Given the description of an element on the screen output the (x, y) to click on. 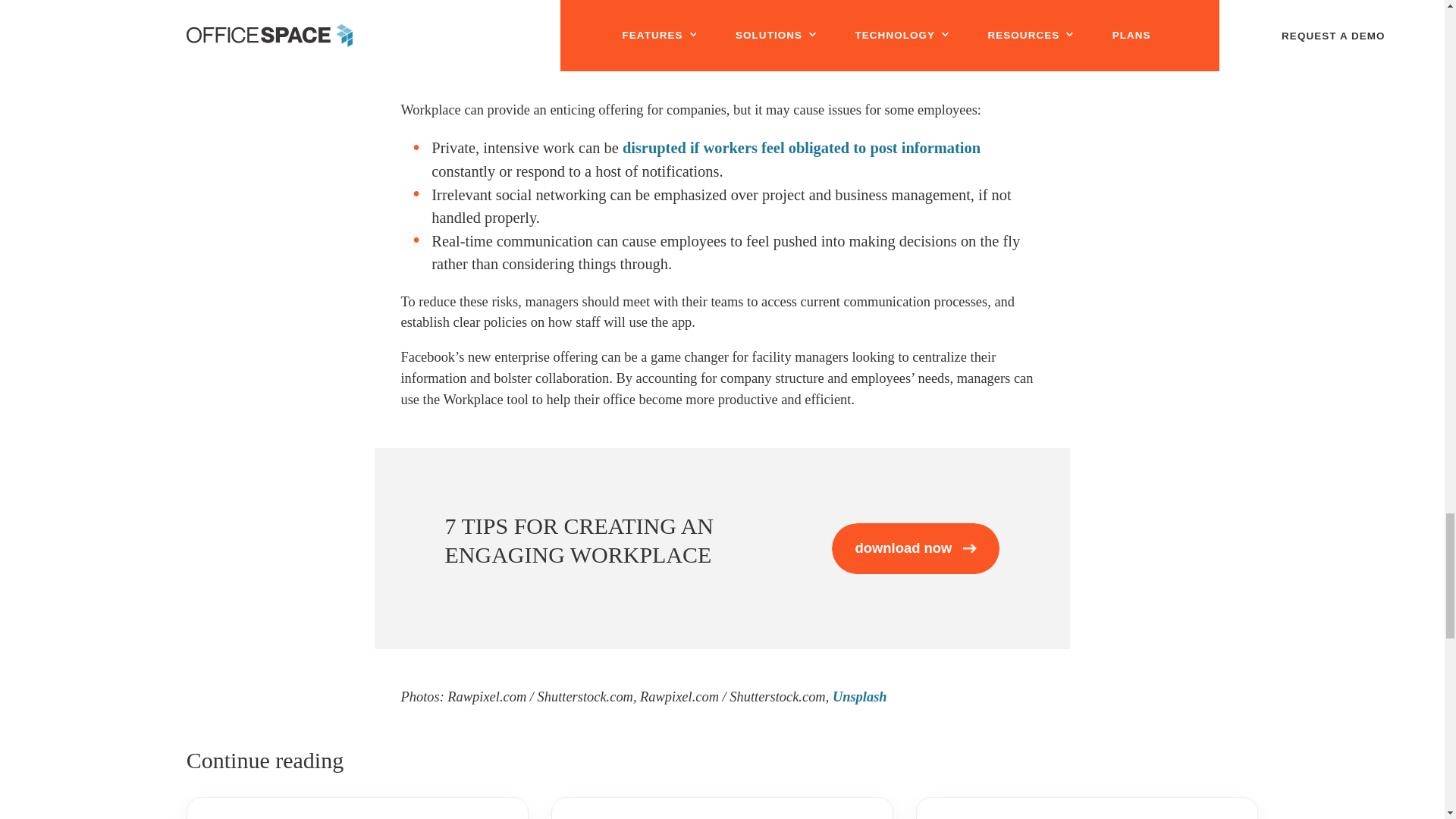
dual computer screens on a desk (675, 16)
